Given the description of an element on the screen output the (x, y) to click on. 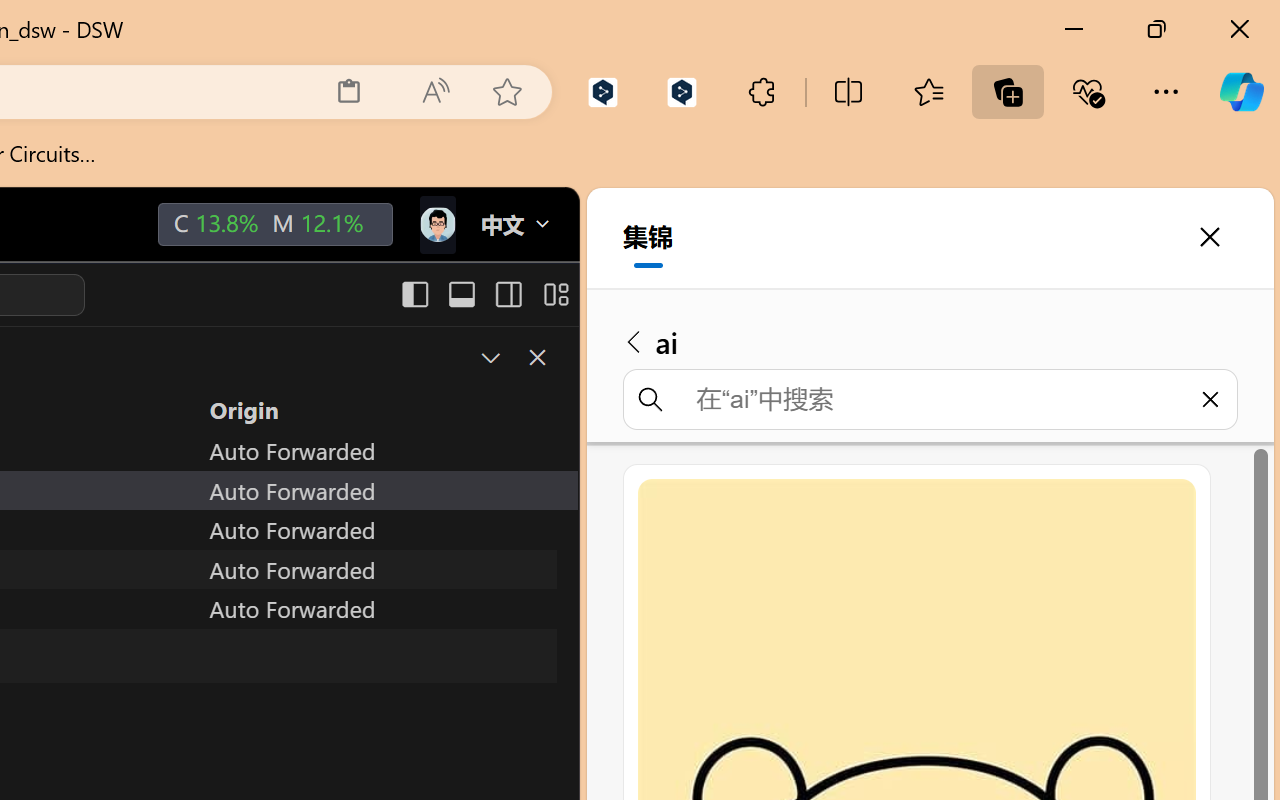
Customize Layout... (553, 294)
Restore Panel Size (488, 357)
Toggle Primary Side Bar (Ctrl+B) (413, 294)
Toggle Panel (Ctrl+J) (461, 294)
icon (436, 220)
Class: next-menu next-hoz widgets--iconMenu--BFkiHRM (436, 225)
